Given the description of an element on the screen output the (x, y) to click on. 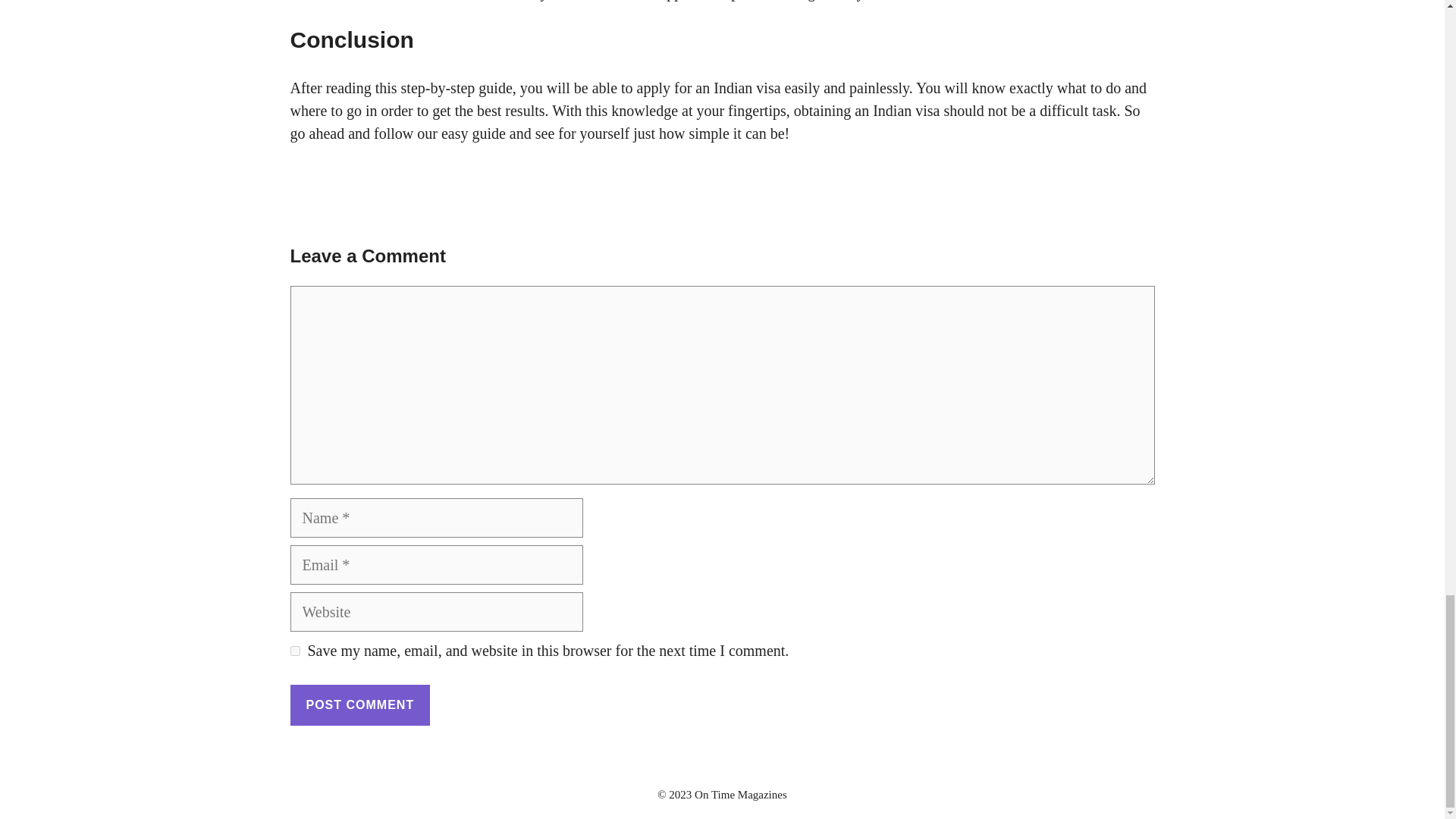
Post Comment (359, 704)
yes (294, 651)
Post Comment (359, 704)
